Given the description of an element on the screen output the (x, y) to click on. 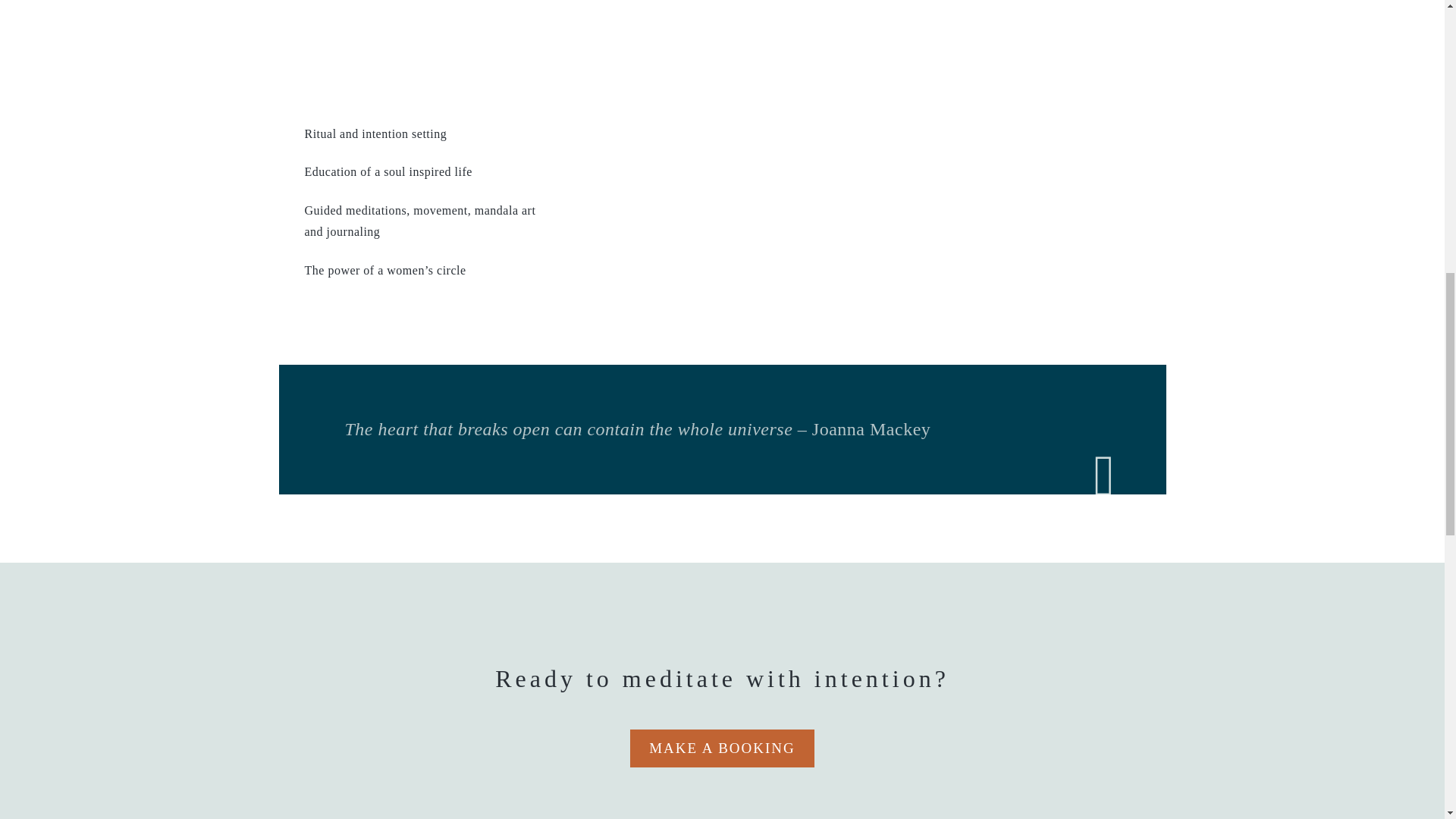
MAKE A BOOKING (721, 748)
